Given the description of an element on the screen output the (x, y) to click on. 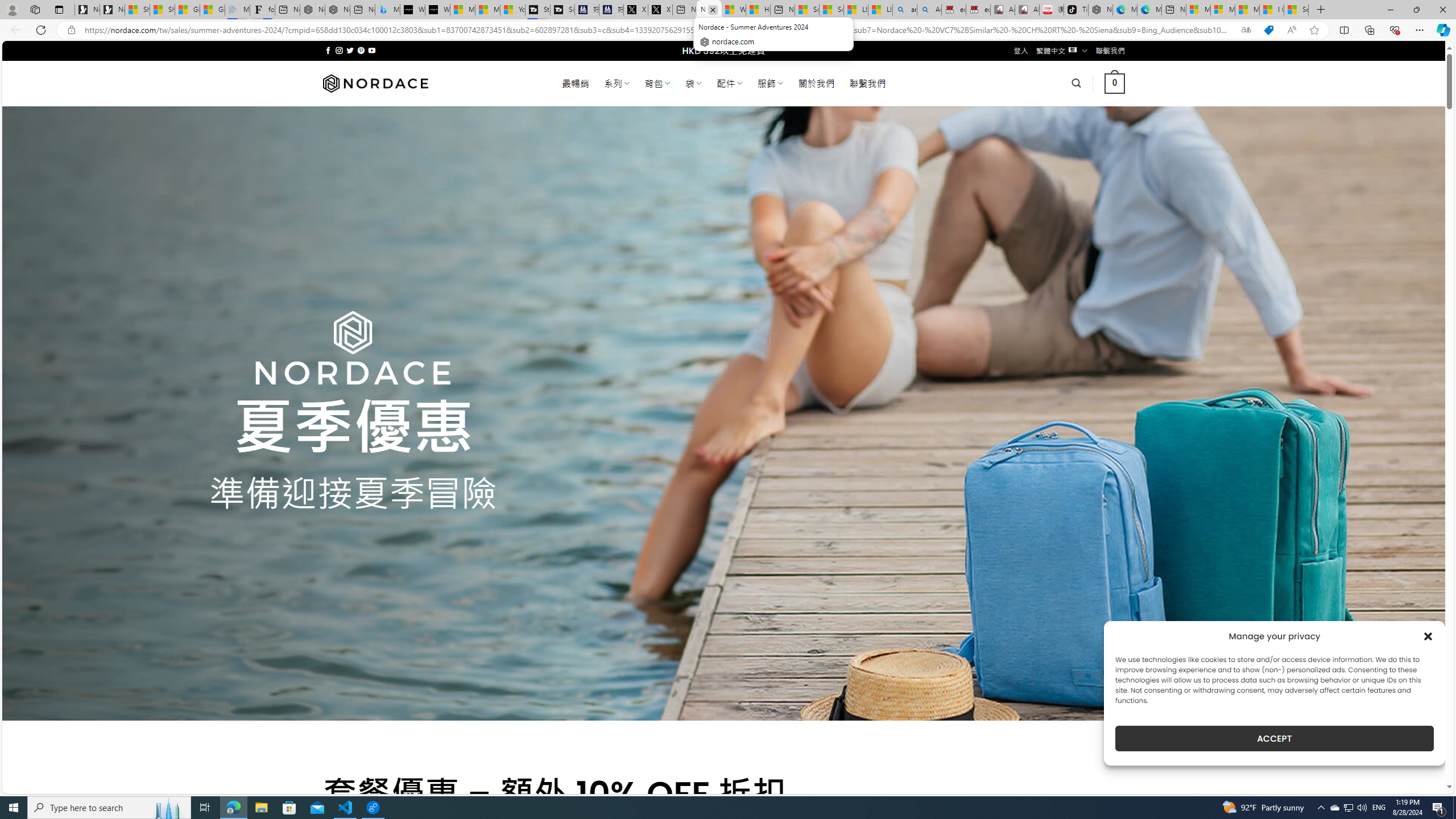
Microsoft account | Privacy (1222, 9)
